Given the description of an element on the screen output the (x, y) to click on. 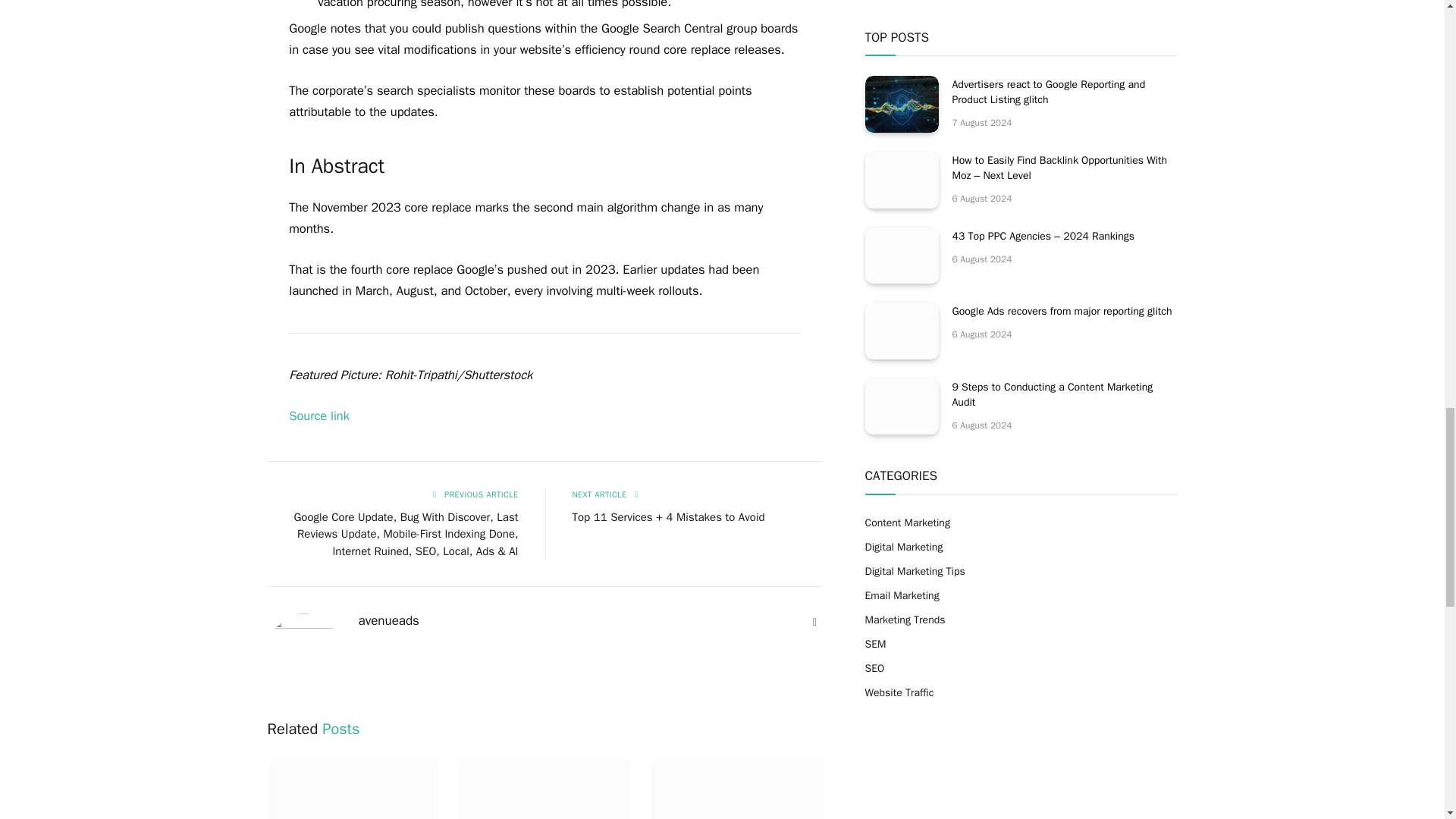
Google Ads recovers from major reporting glitch (736, 788)
avenueads (388, 620)
Posts by avenueads (388, 620)
Website (814, 622)
Source link (318, 415)
Website (814, 622)
